Given the description of an element on the screen output the (x, y) to click on. 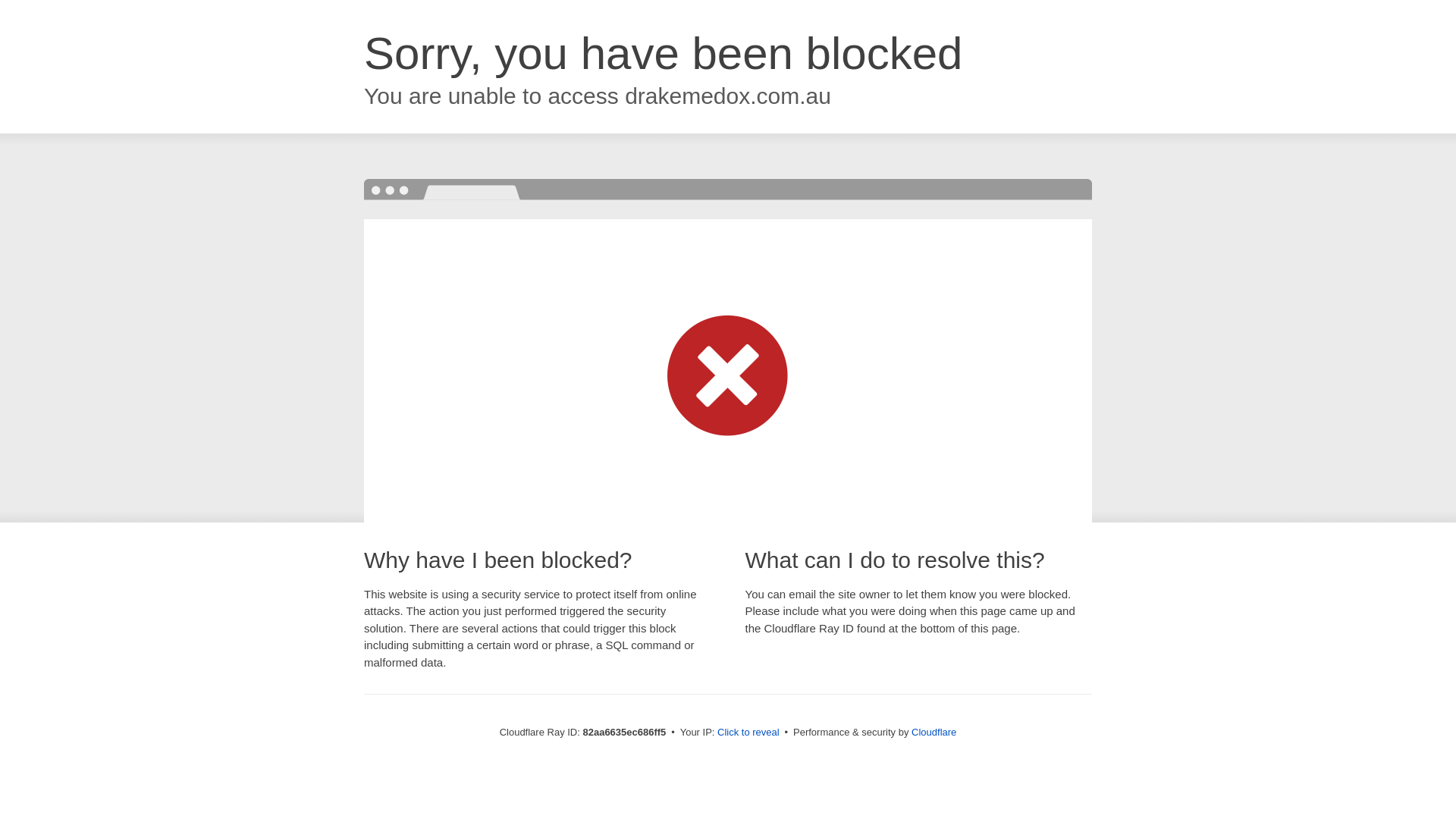
Cloudflare Element type: text (933, 731)
Click to reveal Element type: text (748, 732)
